Given the description of an element on the screen output the (x, y) to click on. 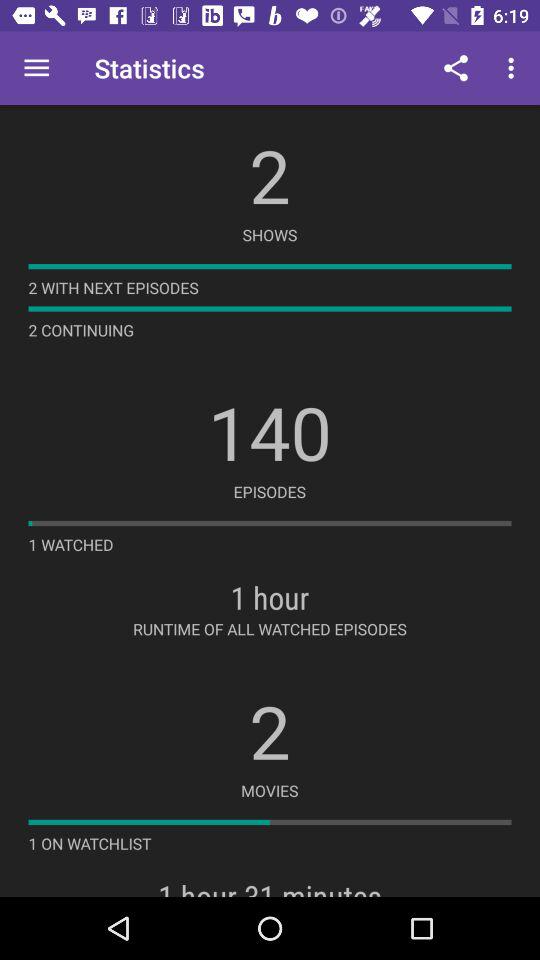
choose icon next to statistics icon (455, 67)
